Given the description of an element on the screen output the (x, y) to click on. 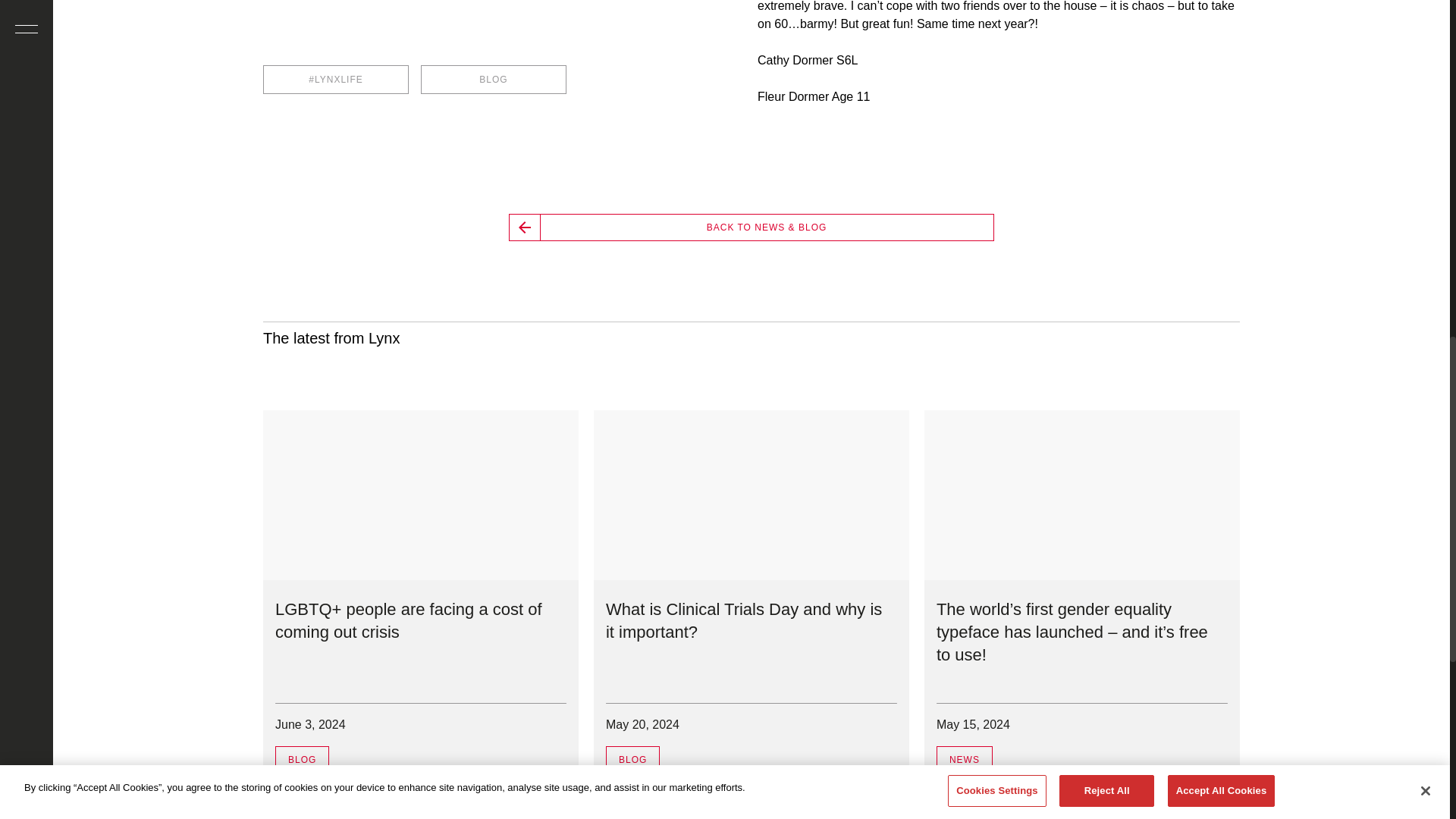
Blog (632, 759)
BLOG (632, 759)
BLOG (493, 79)
BLOG (302, 759)
What is Clinical Trials Day and why is it important? (751, 494)
News (964, 759)
What is Clinical Trials Day and why is it important? (743, 620)
What is Clinical Trials Day and why is it important? (743, 620)
NEWS (964, 759)
Blog (302, 759)
